Given the description of an element on the screen output the (x, y) to click on. 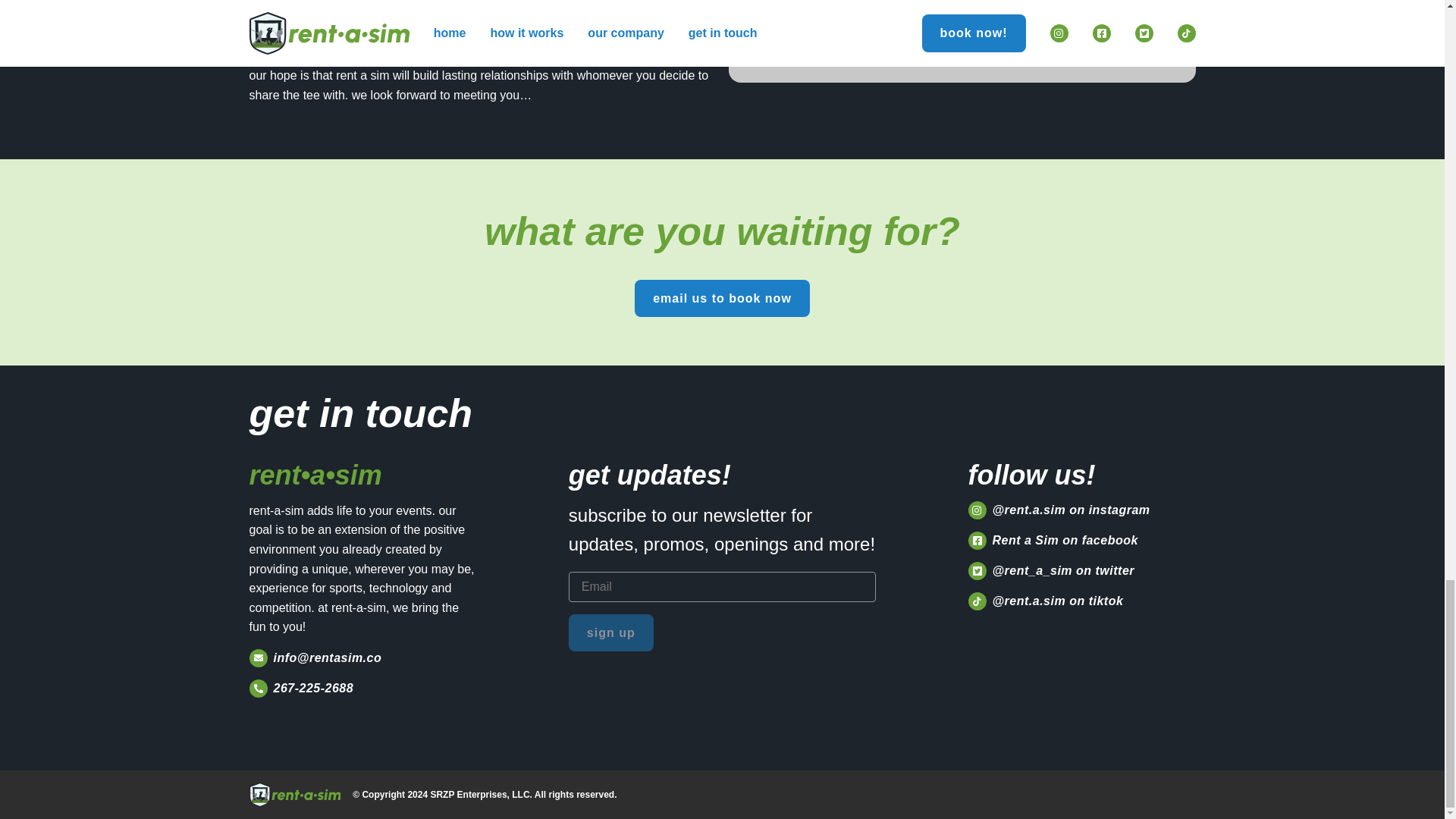
sign up (611, 632)
Rent a Sim on facebook (1081, 540)
267-225-2688 (362, 688)
email us to book now (721, 298)
